Given the description of an element on the screen output the (x, y) to click on. 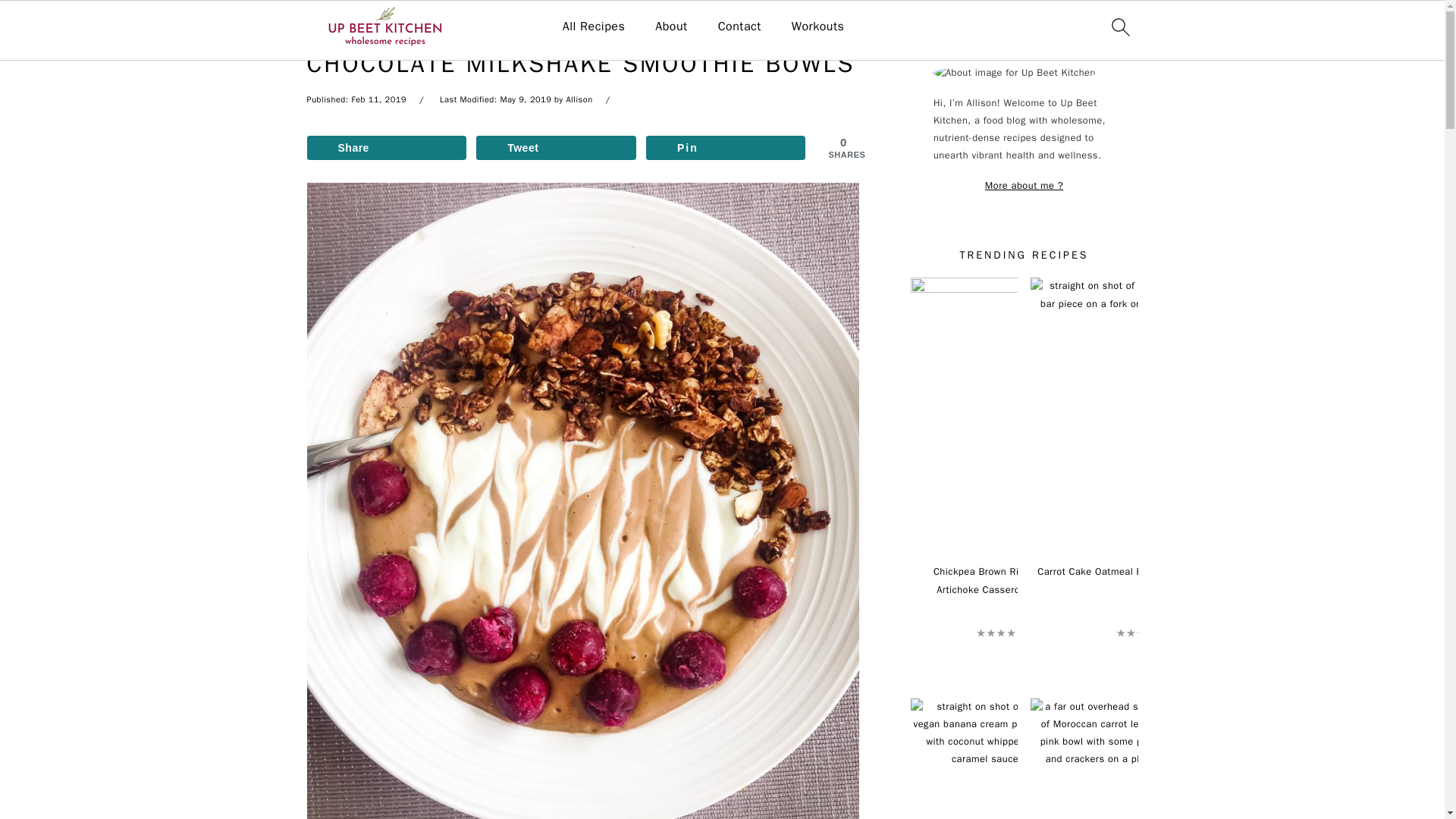
search icon (1119, 26)
Recipes (374, 25)
Tweet (556, 147)
Share on X (556, 147)
Home (322, 25)
Contact (739, 26)
Share on Facebook (385, 147)
All Recipes (594, 26)
Pin (726, 147)
Save to Pinterest (726, 147)
Breakfast and Brunch Recipes (495, 25)
About (671, 26)
Workouts (818, 26)
Share (385, 147)
